Given the description of an element on the screen output the (x, y) to click on. 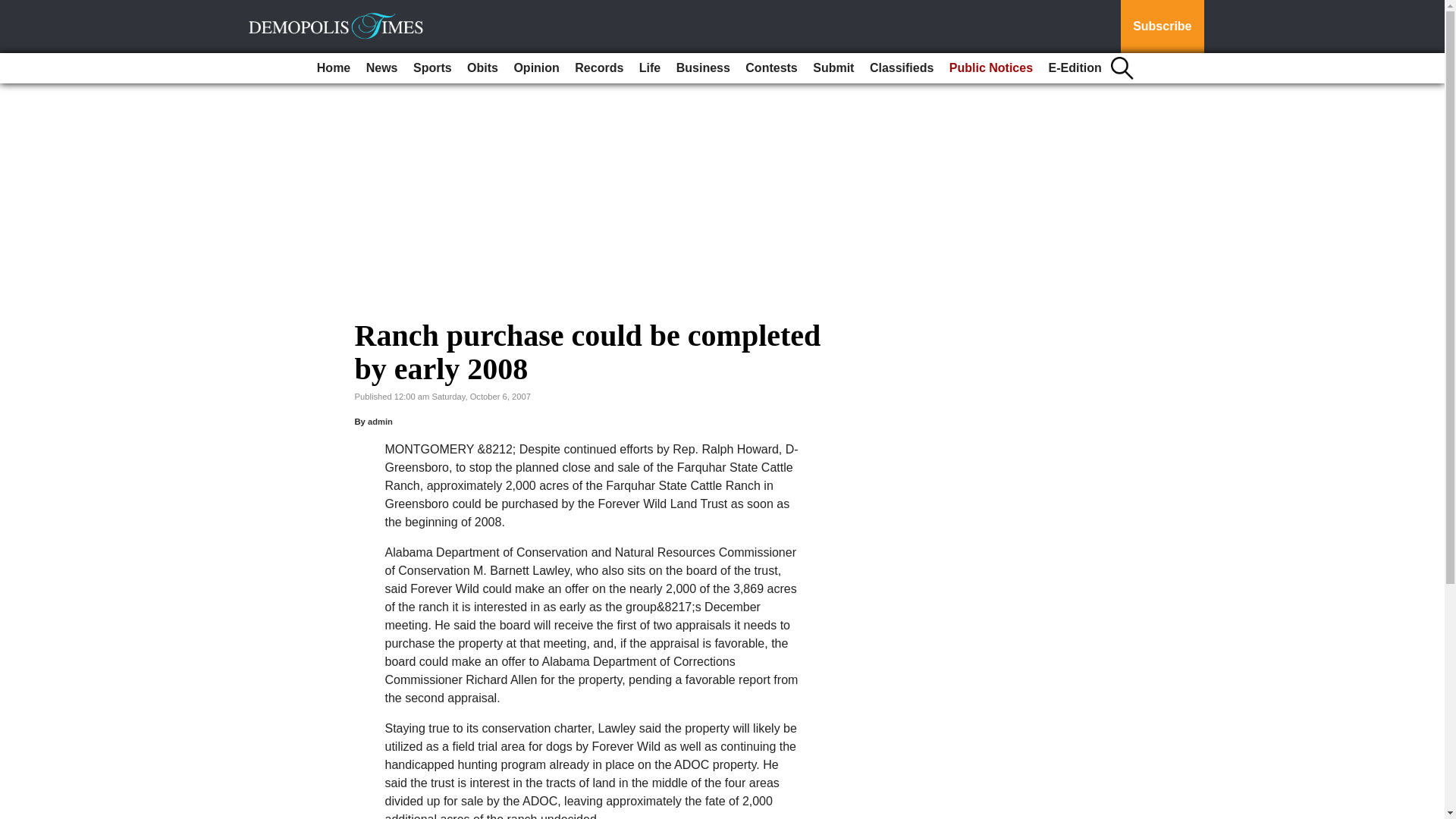
Classifieds (901, 68)
E-Edition (1075, 68)
Business (702, 68)
Records (598, 68)
Life (649, 68)
Sports (432, 68)
Contests (771, 68)
Opinion (535, 68)
Submit (833, 68)
Subscribe (1162, 26)
Public Notices (991, 68)
News (381, 68)
Go (13, 9)
Home (333, 68)
admin (380, 420)
